Given the description of an element on the screen output the (x, y) to click on. 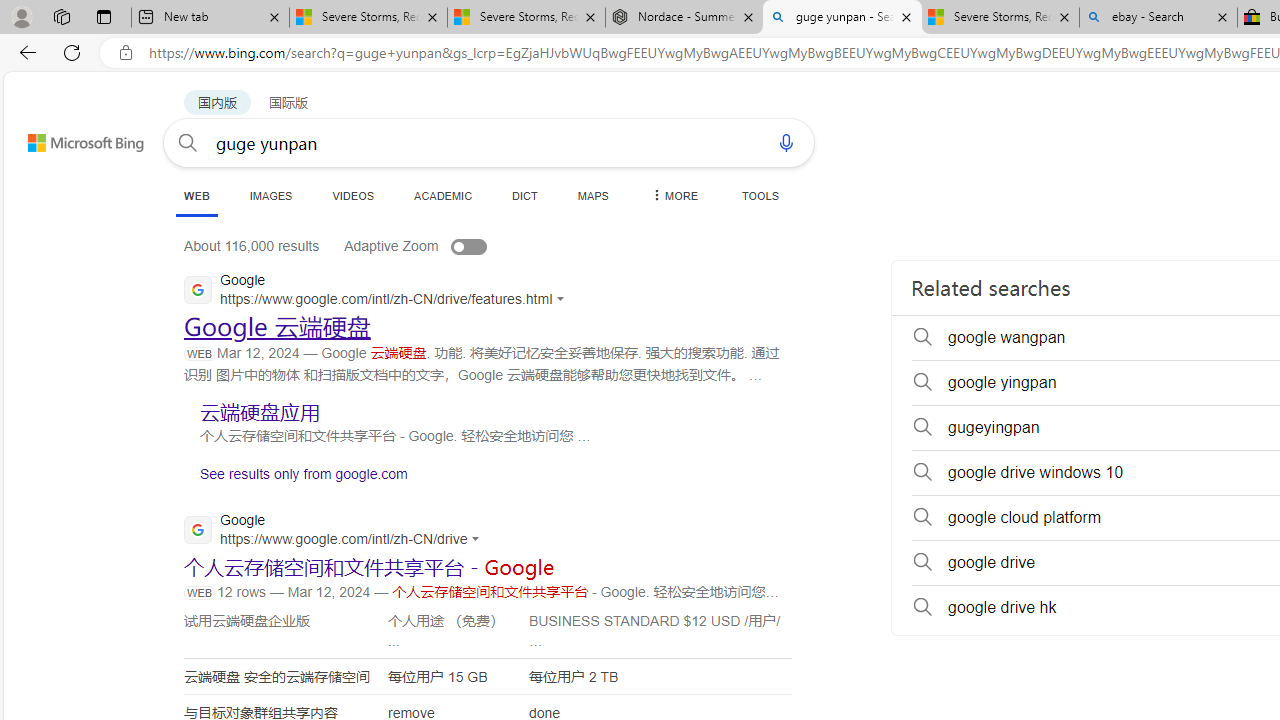
MAPS (592, 195)
Personal Profile (21, 16)
Close tab (1222, 16)
ACADEMIC (443, 195)
Refresh (72, 52)
IMAGES (270, 195)
TOOLS (760, 195)
Nordace - Summer Adventures 2024 (683, 17)
Skip to content (63, 133)
Global web icon (197, 529)
DICT (525, 195)
